Given the description of an element on the screen output the (x, y) to click on. 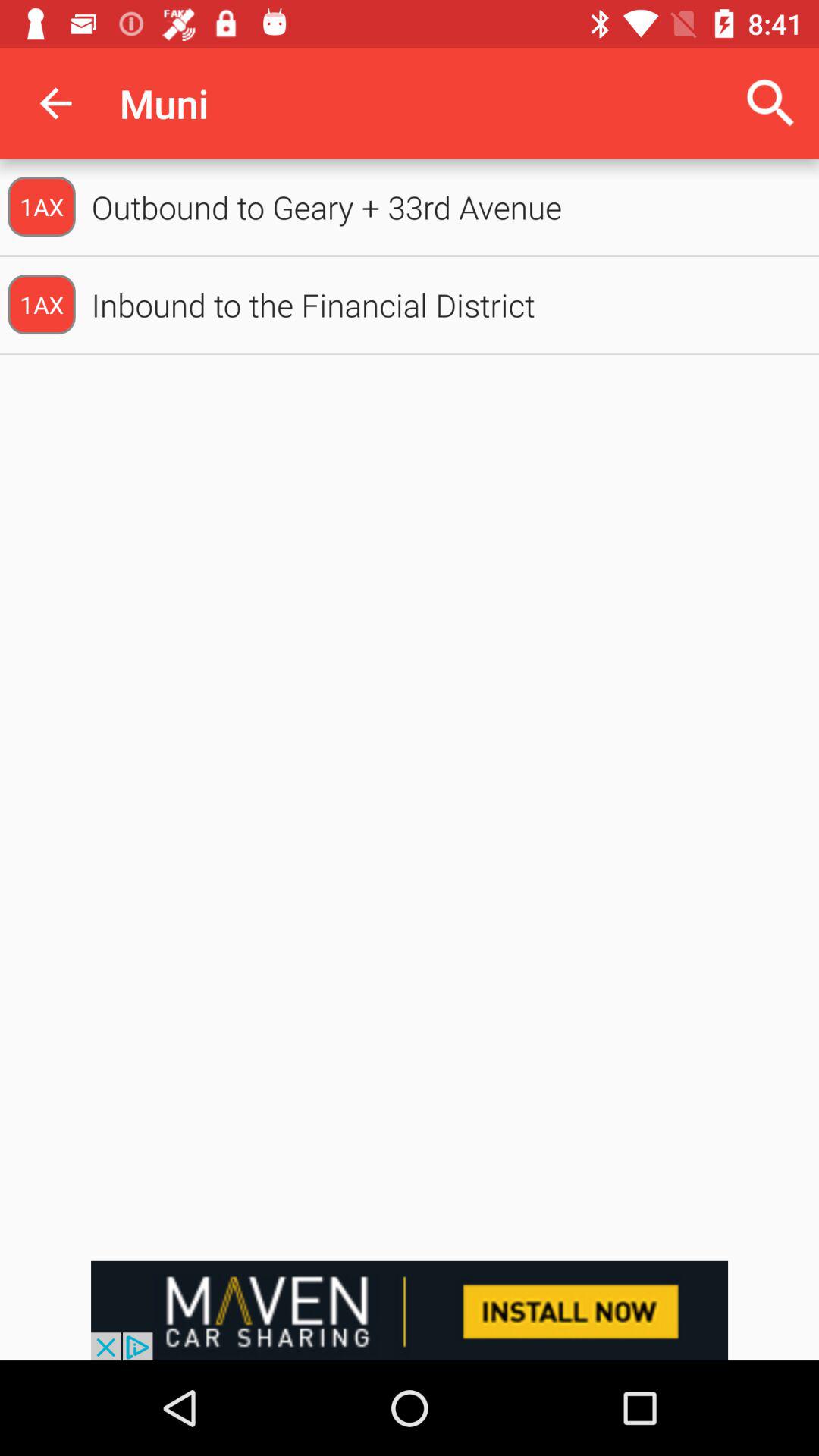
advertisement page (409, 1310)
